Given the description of an element on the screen output the (x, y) to click on. 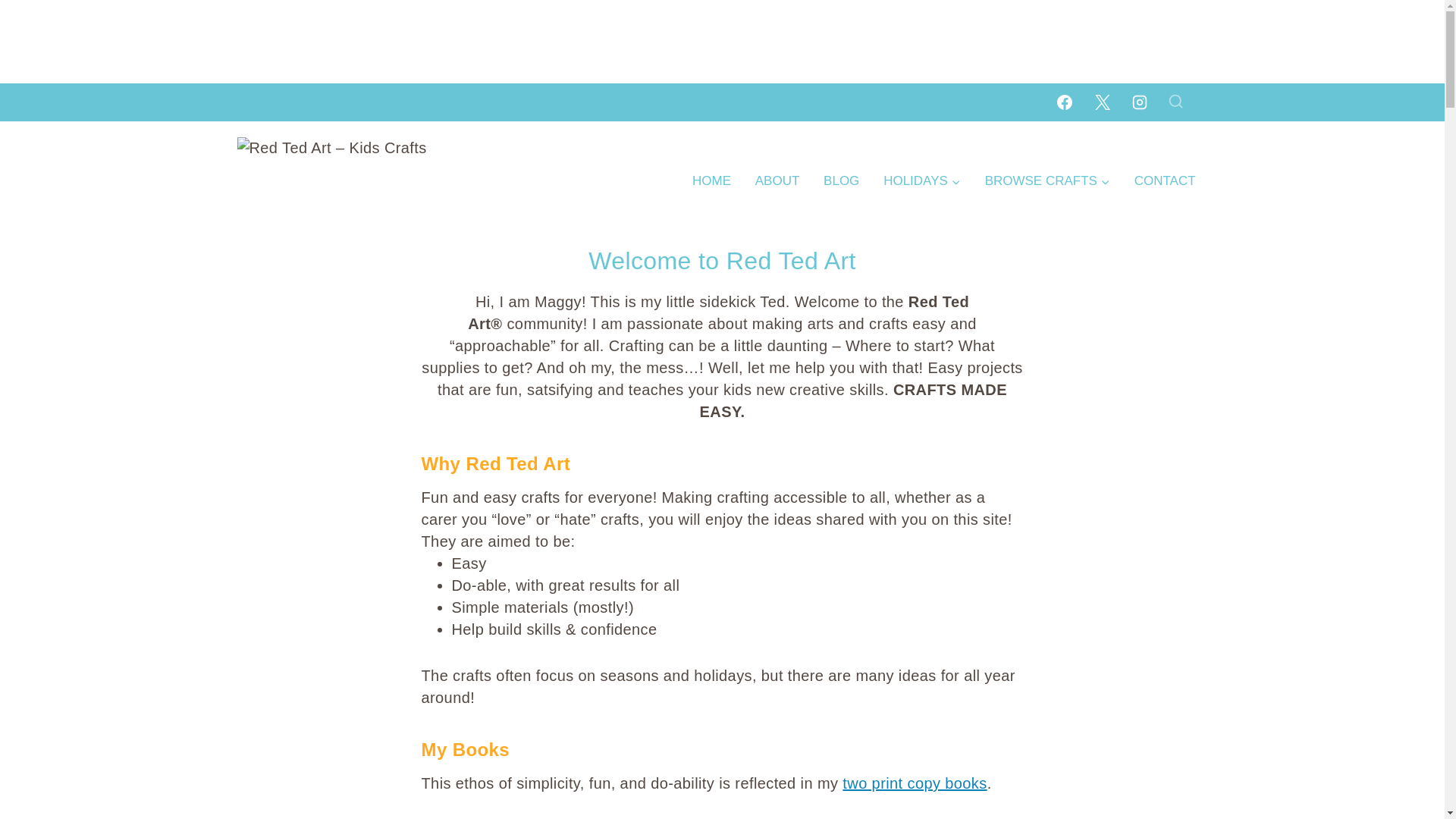
HOLIDAYS (921, 180)
HOME (710, 180)
BLOG (840, 180)
BROWSE CRAFTS (1047, 180)
CONTACT (1165, 180)
ABOUT (776, 180)
